Given the description of an element on the screen output the (x, y) to click on. 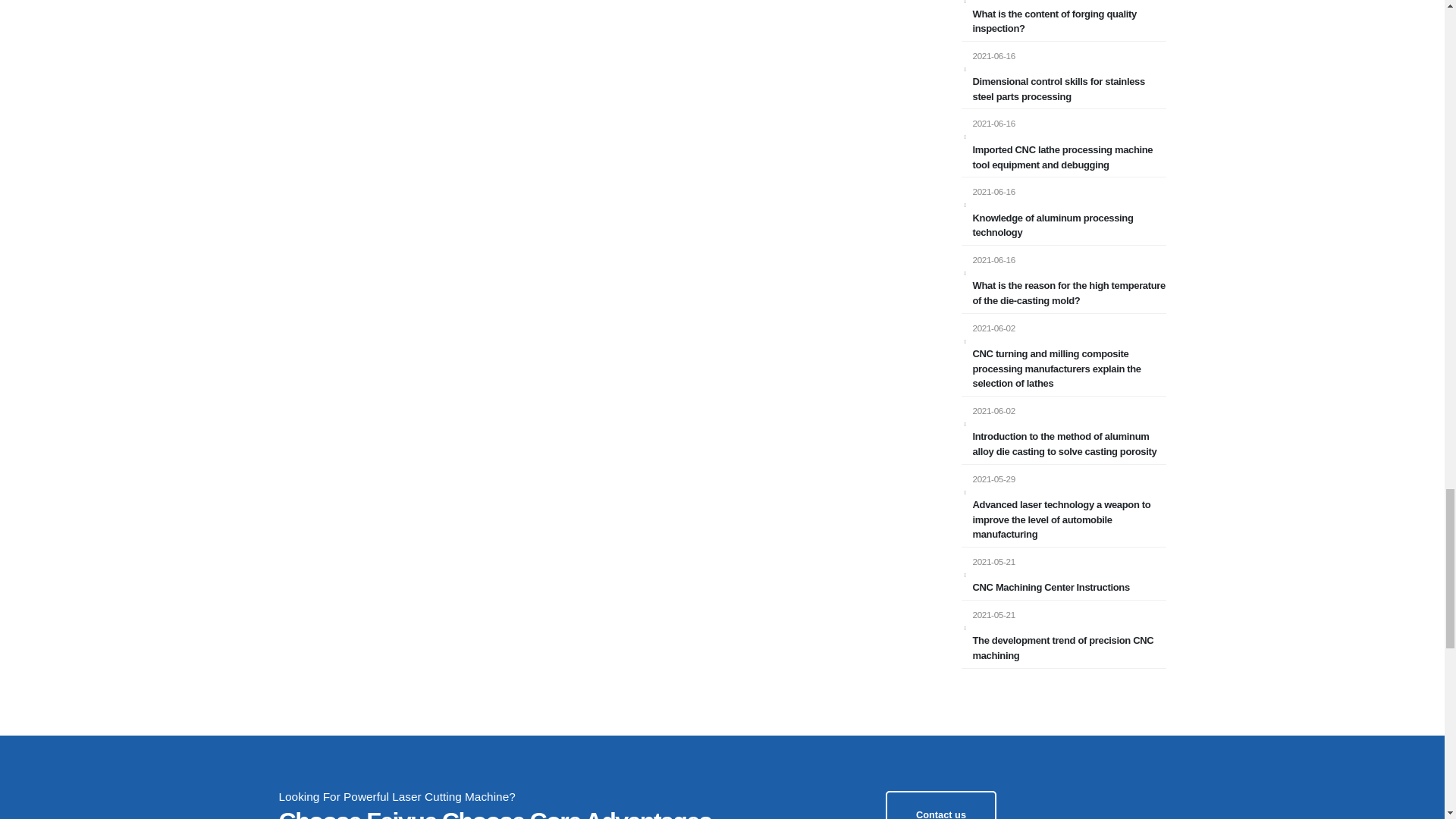
Appointment (941, 805)
